Given the description of an element on the screen output the (x, y) to click on. 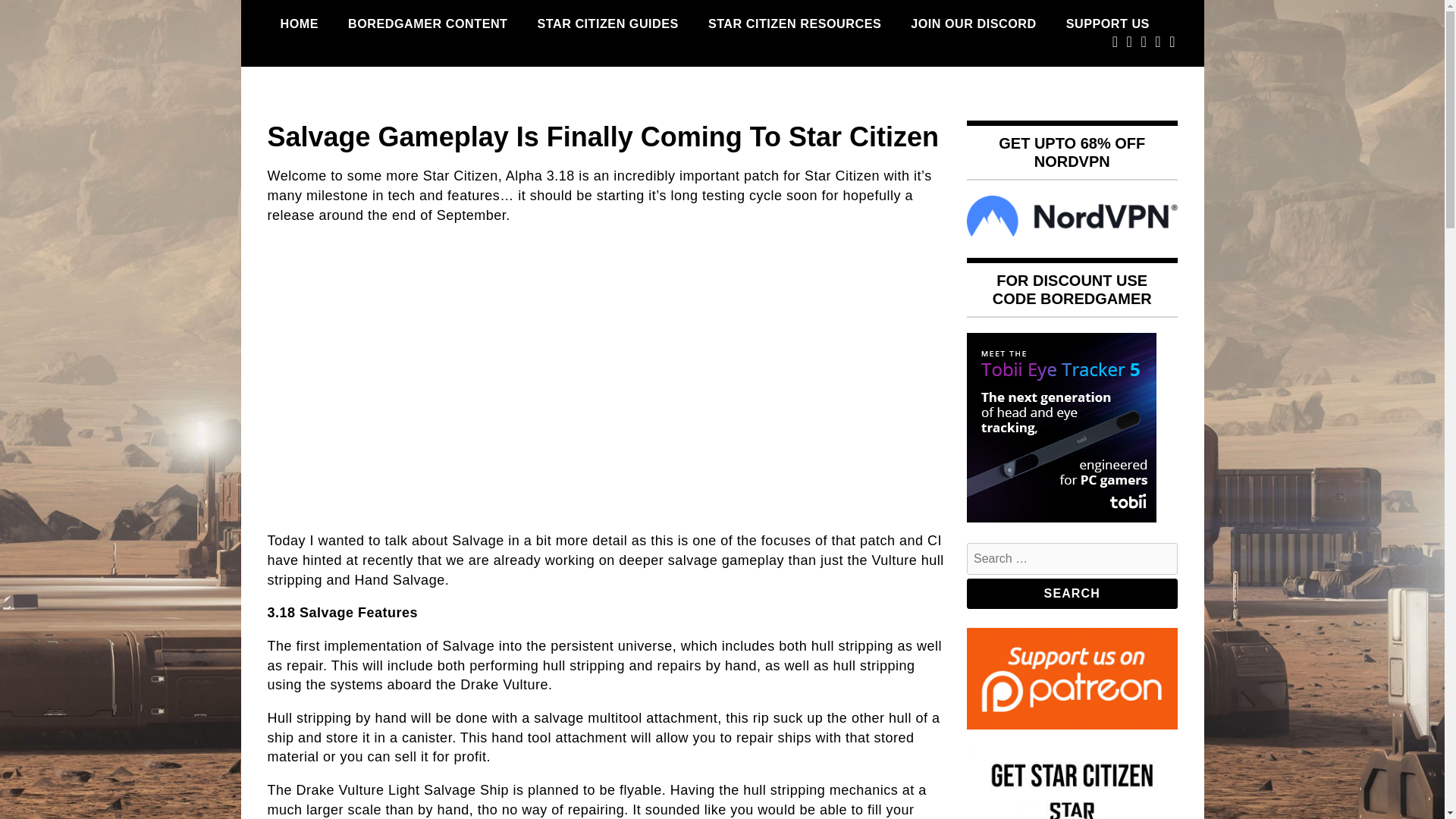
Search (1071, 593)
BoredGamer (350, 114)
STAR CITIZEN RESOURCES (794, 23)
SUPPORT US (1107, 23)
Search (1071, 593)
JOIN OUR DISCORD (972, 23)
BOREDGAMER CONTENT (427, 23)
Search (1071, 593)
HOME (298, 23)
